Given the description of an element on the screen output the (x, y) to click on. 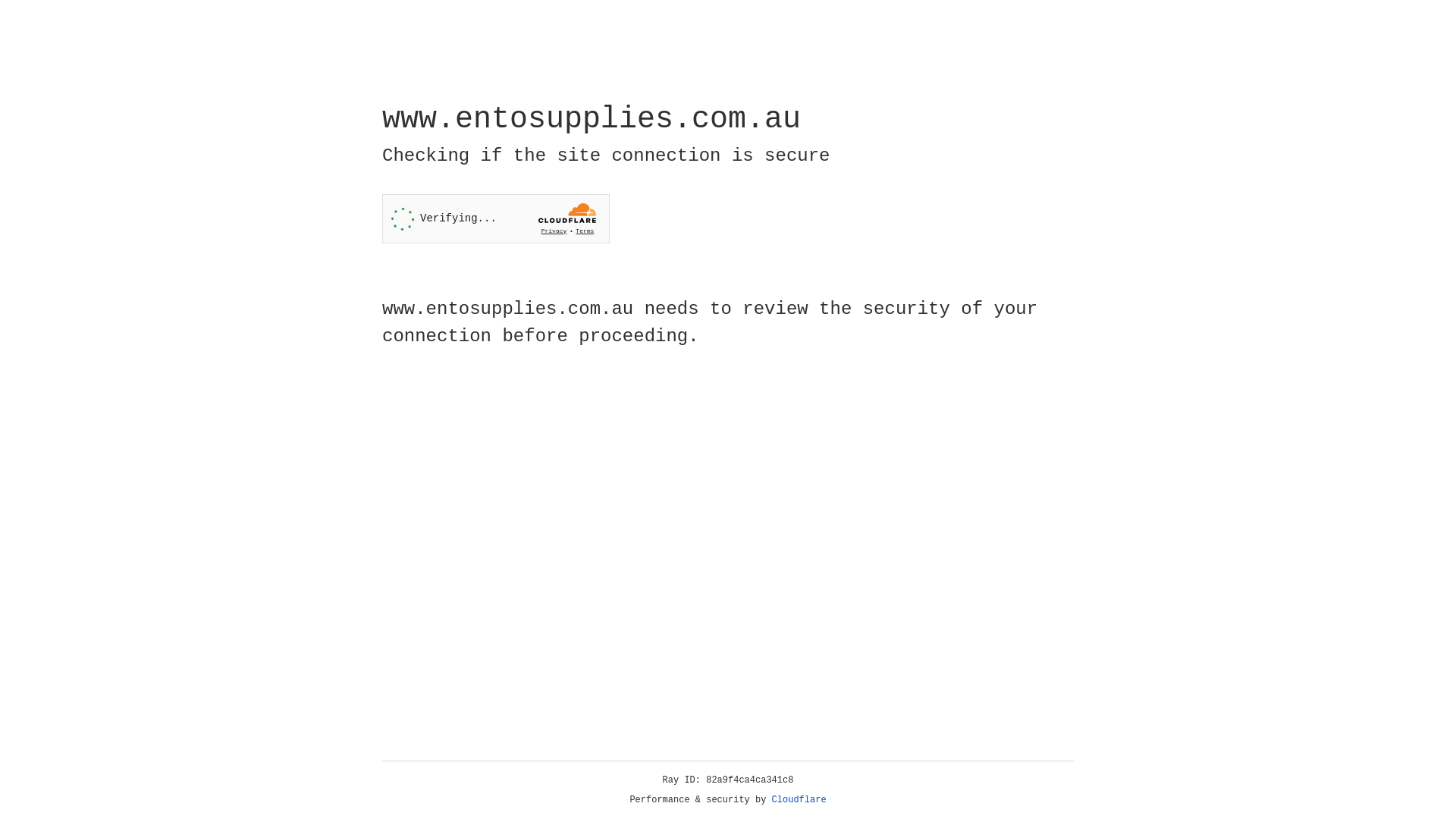
Cloudflare Element type: text (798, 799)
Widget containing a Cloudflare security challenge Element type: hover (495, 218)
